Given the description of an element on the screen output the (x, y) to click on. 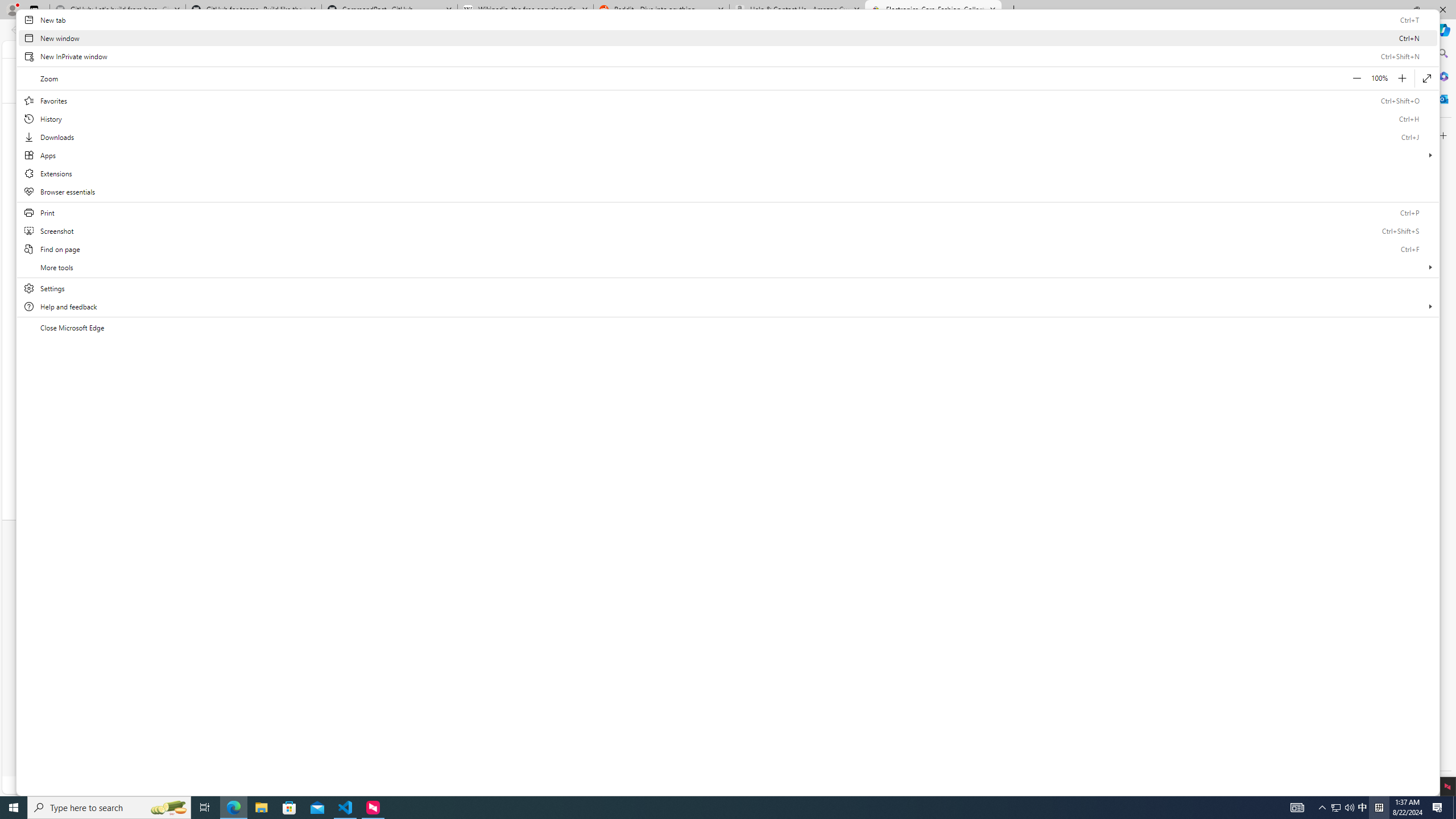
Ship to (860, 49)
Policies (809, 655)
Trading cards (818, 433)
Electronics, Cars, Fashion, Collectibles & More | eBay (933, 9)
Facebook (673, 587)
Announcements (1015, 624)
Home & Garden (904, 112)
Advanced Search (1048, 78)
Shop by category (457, 79)
Help & Contact (520, 49)
Cookies (772, 749)
eBay sites,United States (1008, 705)
